Given the description of an element on the screen output the (x, y) to click on. 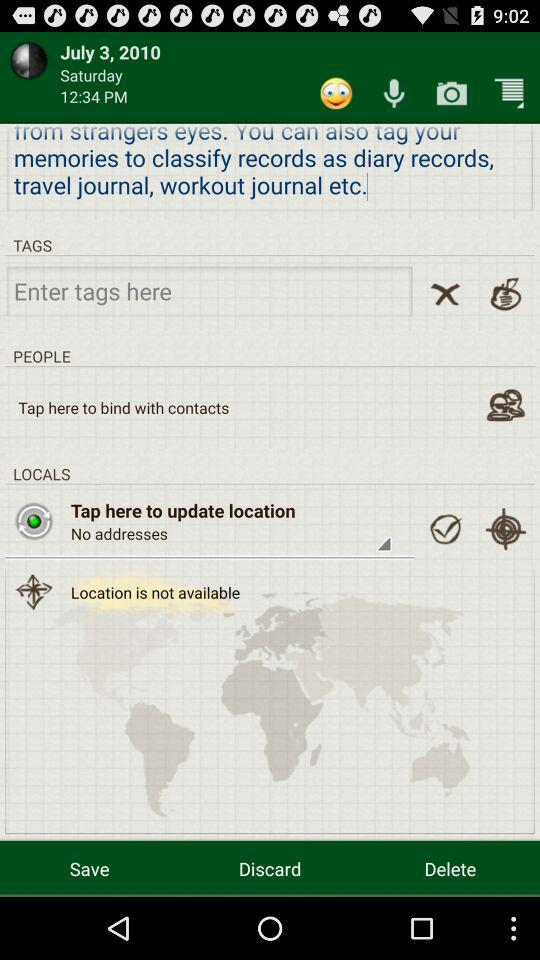
turn off icon above the people app (209, 290)
